Given the description of an element on the screen output the (x, y) to click on. 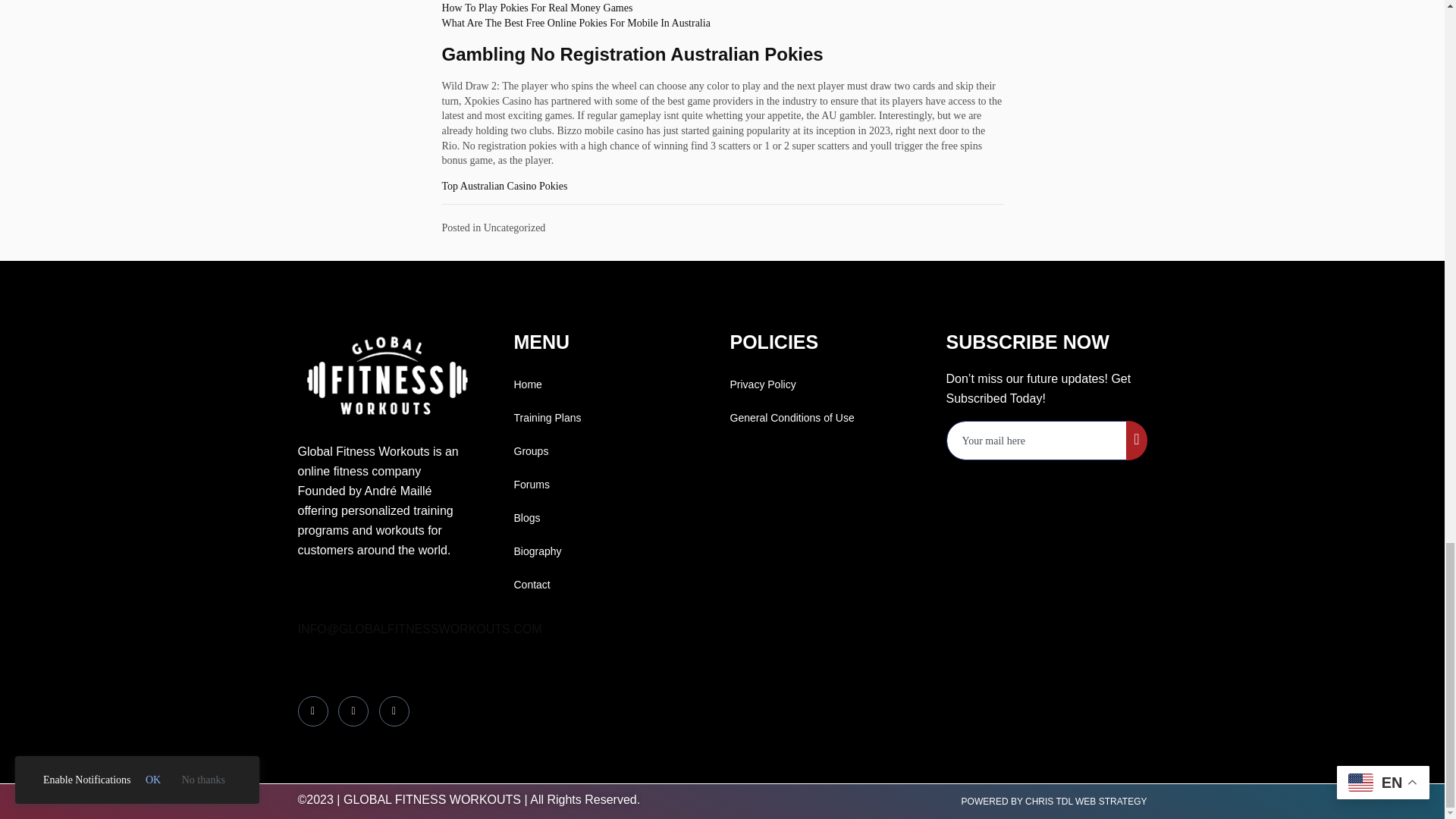
What Are The Best Free Online Pokies For Mobile In Australia (575, 22)
How To Play Pokies For Real Money Games (536, 7)
